Given the description of an element on the screen output the (x, y) to click on. 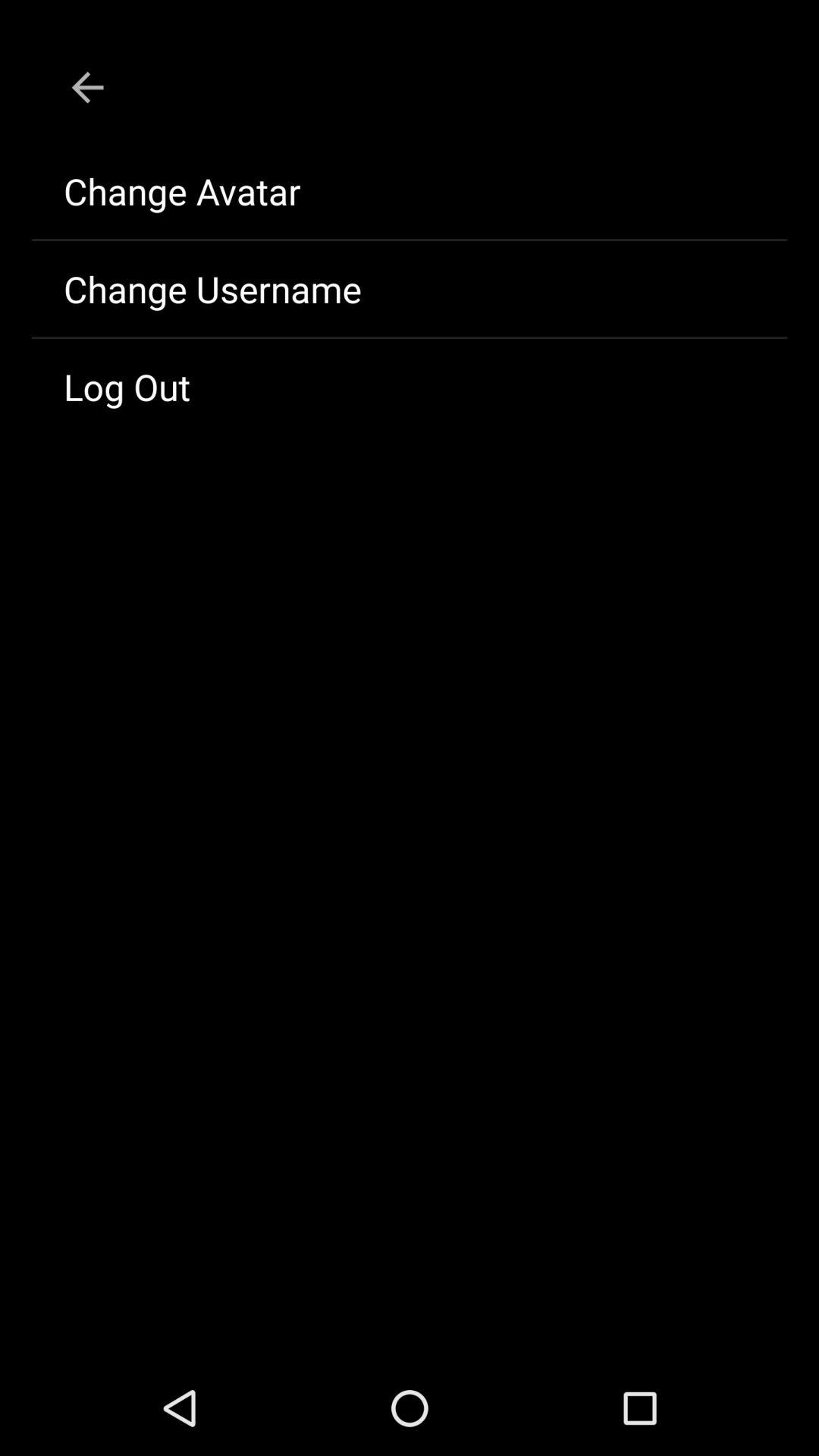
tap log out (409, 386)
